Given the description of an element on the screen output the (x, y) to click on. 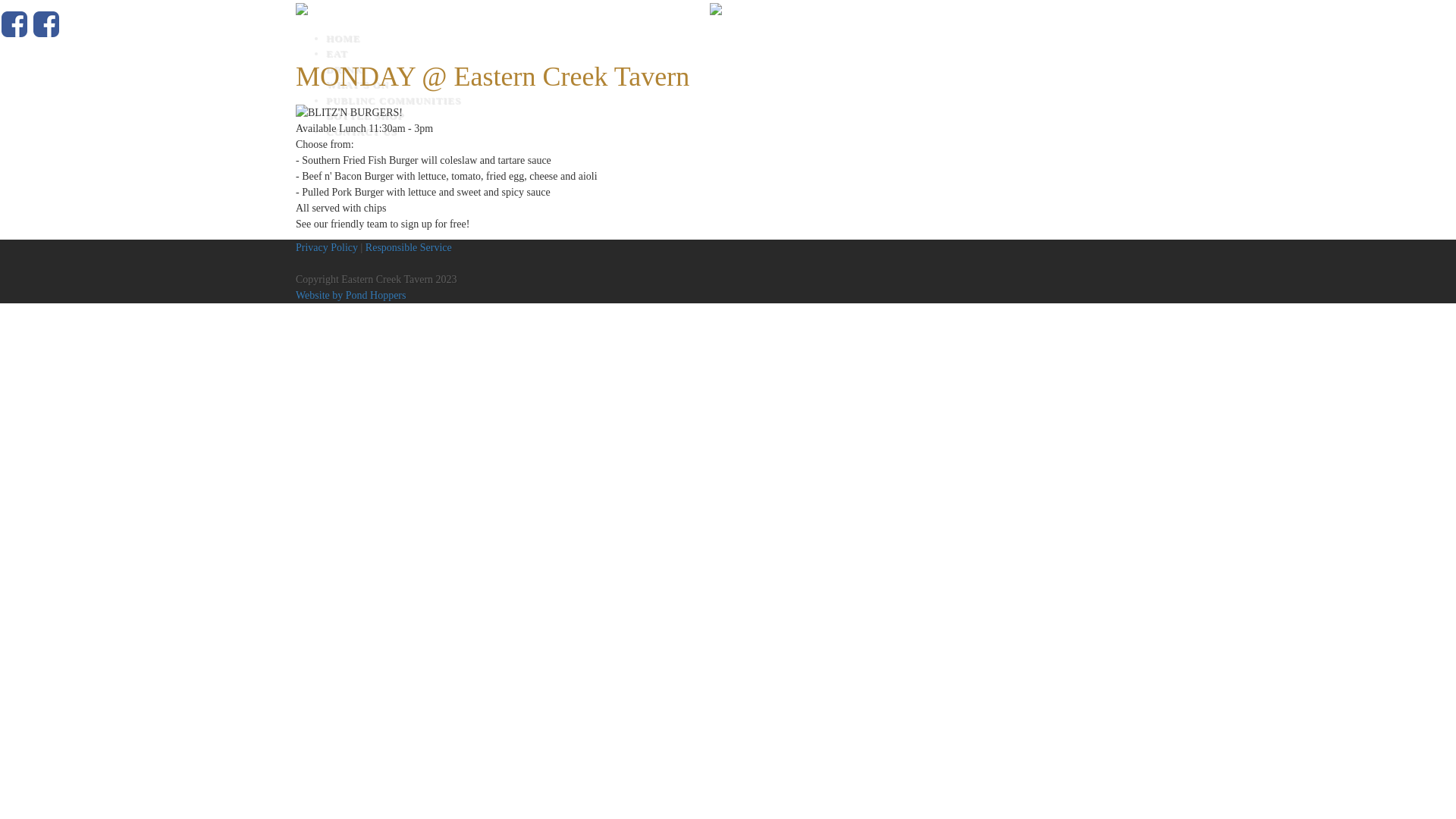
HOME Element type: text (743, 38)
Website by Pond Hoppers Element type: text (350, 295)
CONTACT US Element type: text (743, 131)
EAT Element type: text (743, 53)
Privacy Policy Element type: text (326, 247)
WHAT'S ON Element type: text (743, 84)
Responsible Service Element type: text (408, 247)
PUBLINC COMMUNITIES Element type: text (743, 100)
DRINK Element type: text (743, 69)
BOTTLE SHOP Element type: text (743, 115)
